Given the description of an element on the screen output the (x, y) to click on. 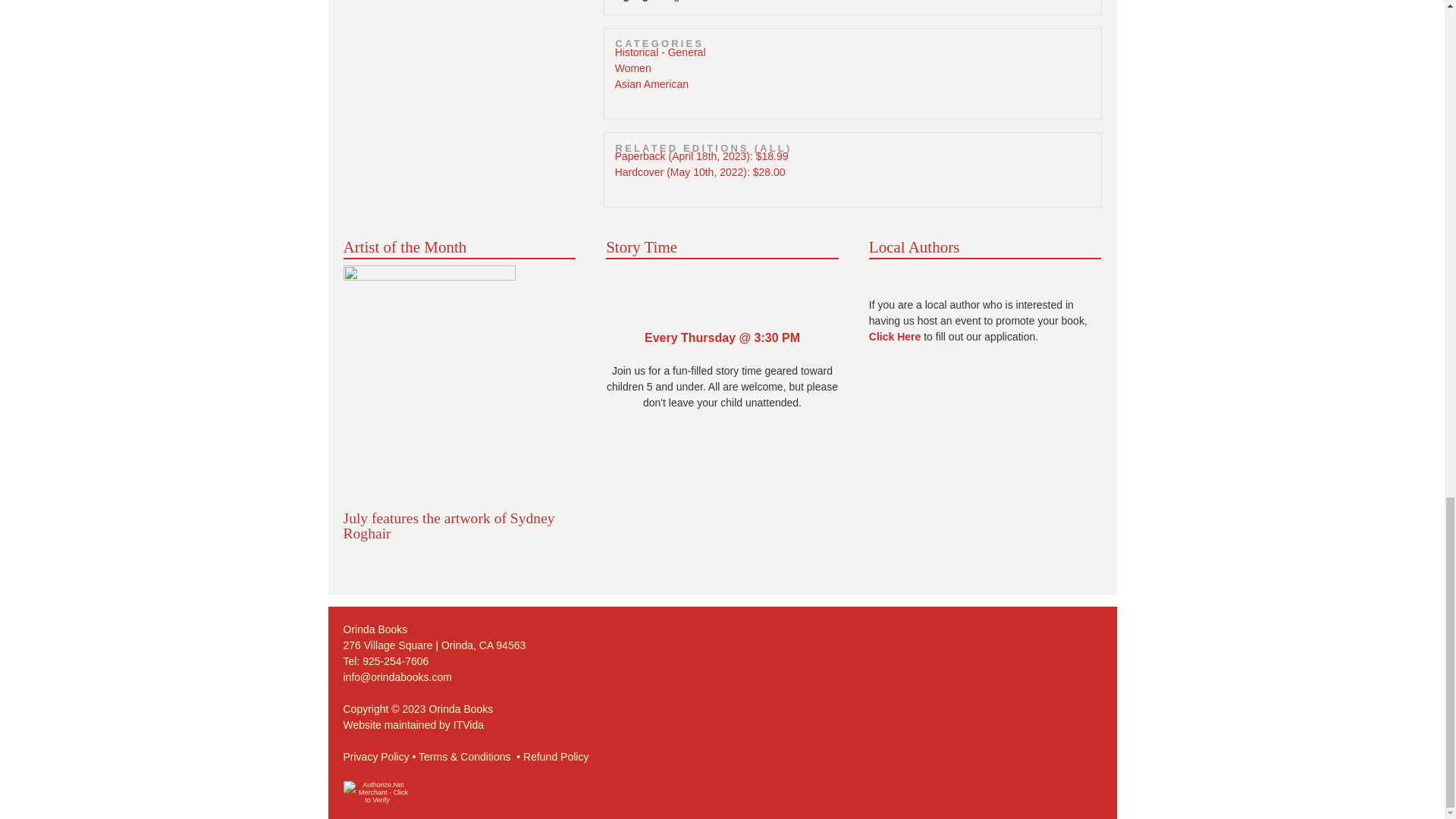
Historical - General (660, 51)
Women (632, 68)
July features the artwork of Sydney Roghair (448, 525)
Asian American (651, 83)
Click Here (894, 336)
Privacy Policy (375, 756)
Refund Policy (555, 756)
ITVida (467, 725)
